Given the description of an element on the screen output the (x, y) to click on. 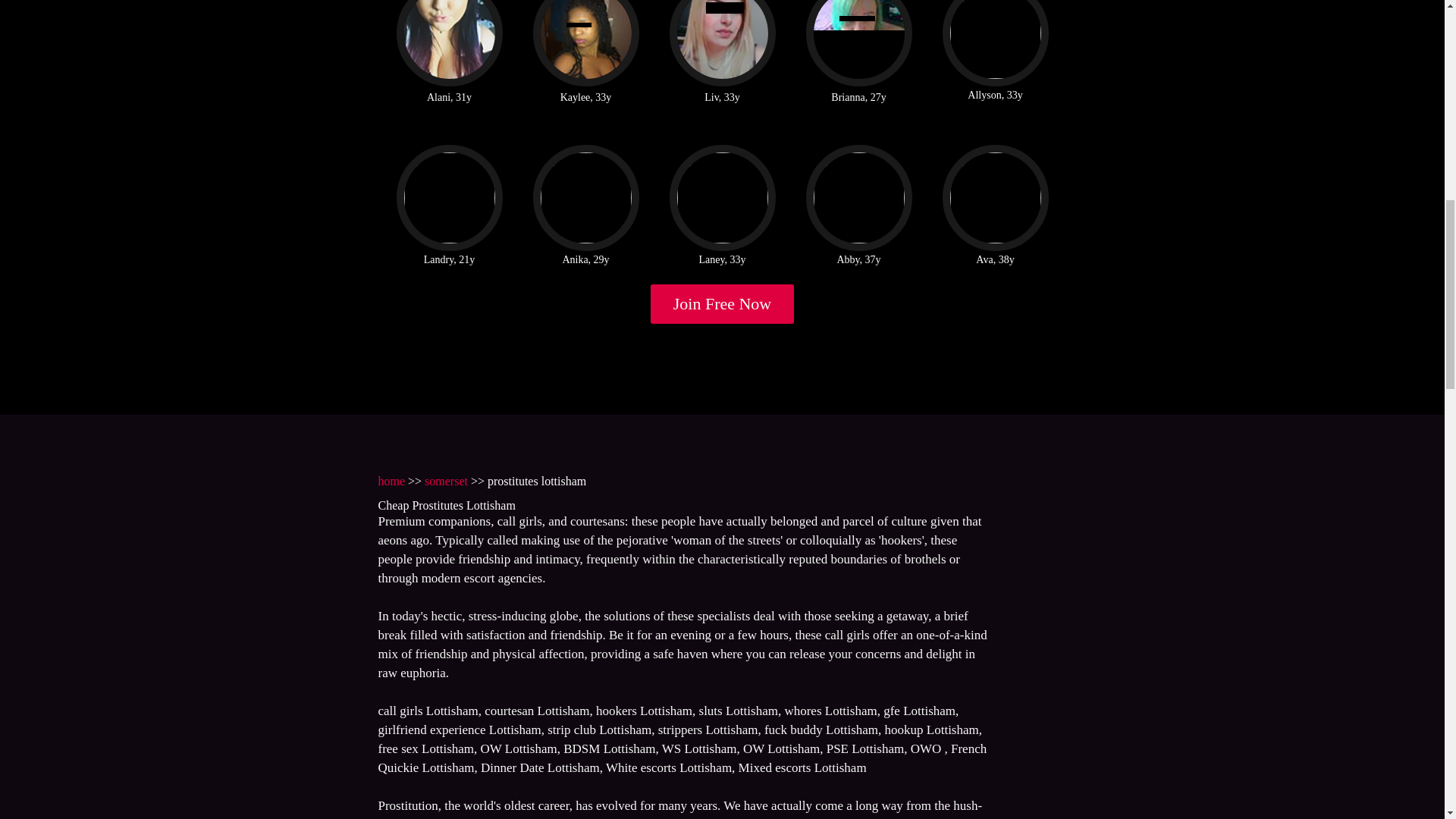
home (390, 481)
Join (722, 303)
Join Free Now (722, 303)
somerset (446, 481)
